Given the description of an element on the screen output the (x, y) to click on. 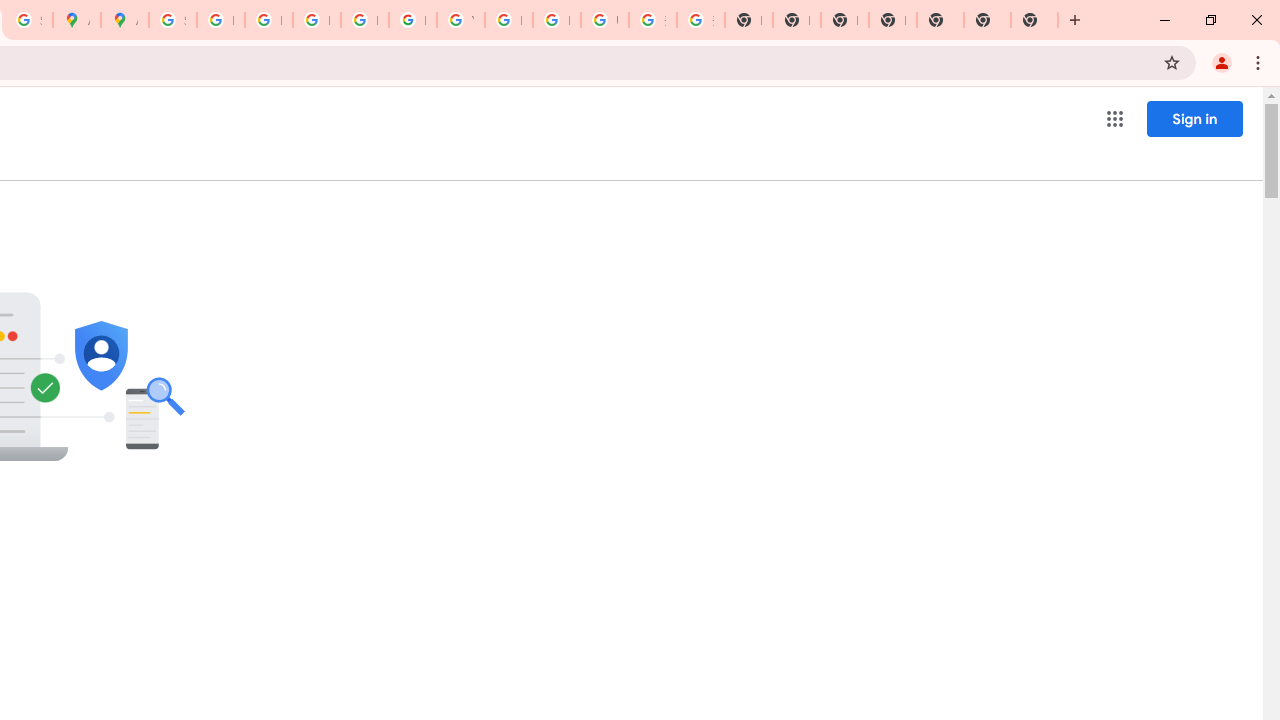
Privacy Help Center - Policies Help (316, 20)
New Tab (1034, 20)
Sign in - Google Accounts (172, 20)
